Given the description of an element on the screen output the (x, y) to click on. 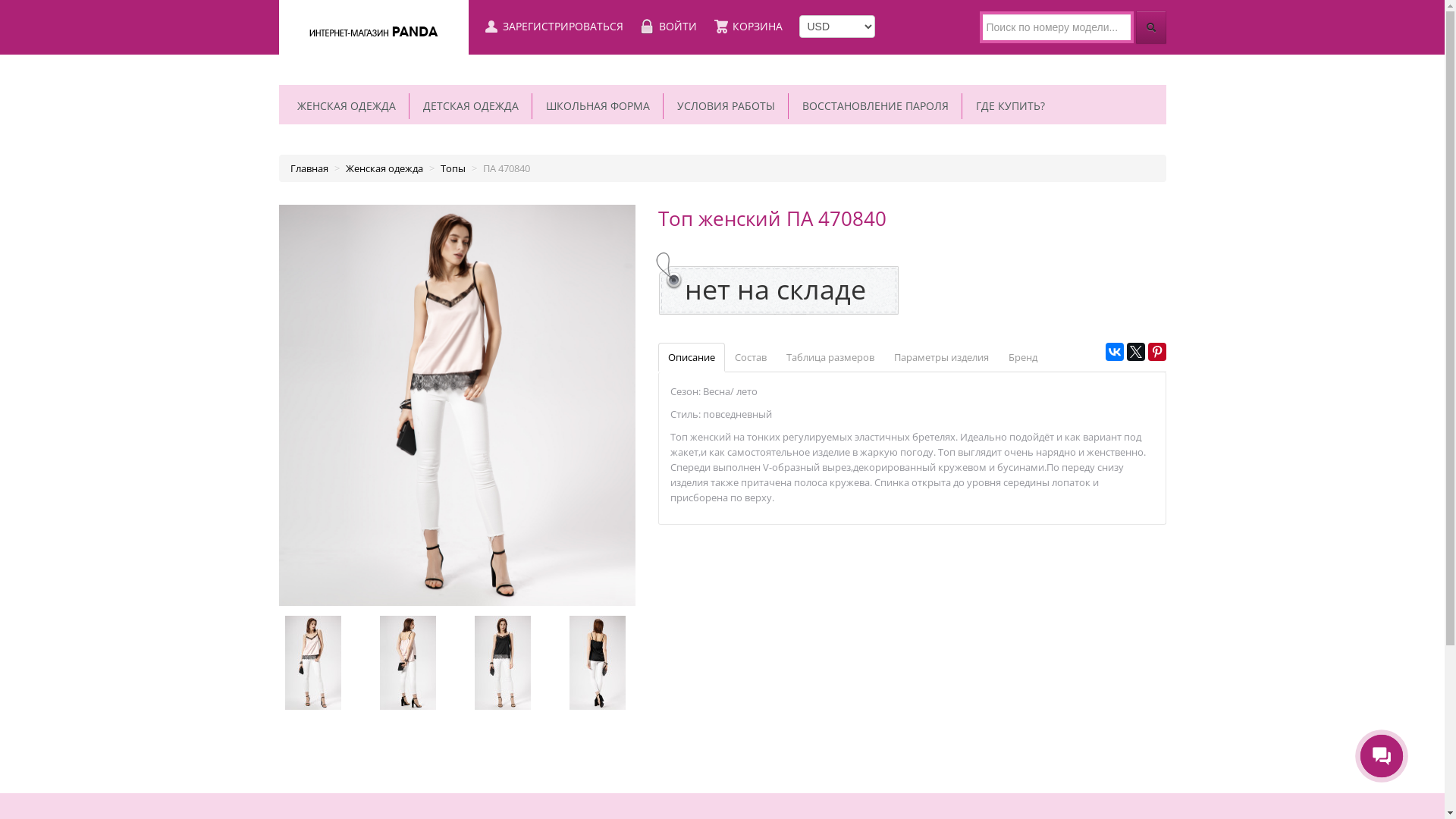
Twitter Element type: hover (1135, 351)
Pinterest Element type: hover (1157, 351)
